Given the description of an element on the screen output the (x, y) to click on. 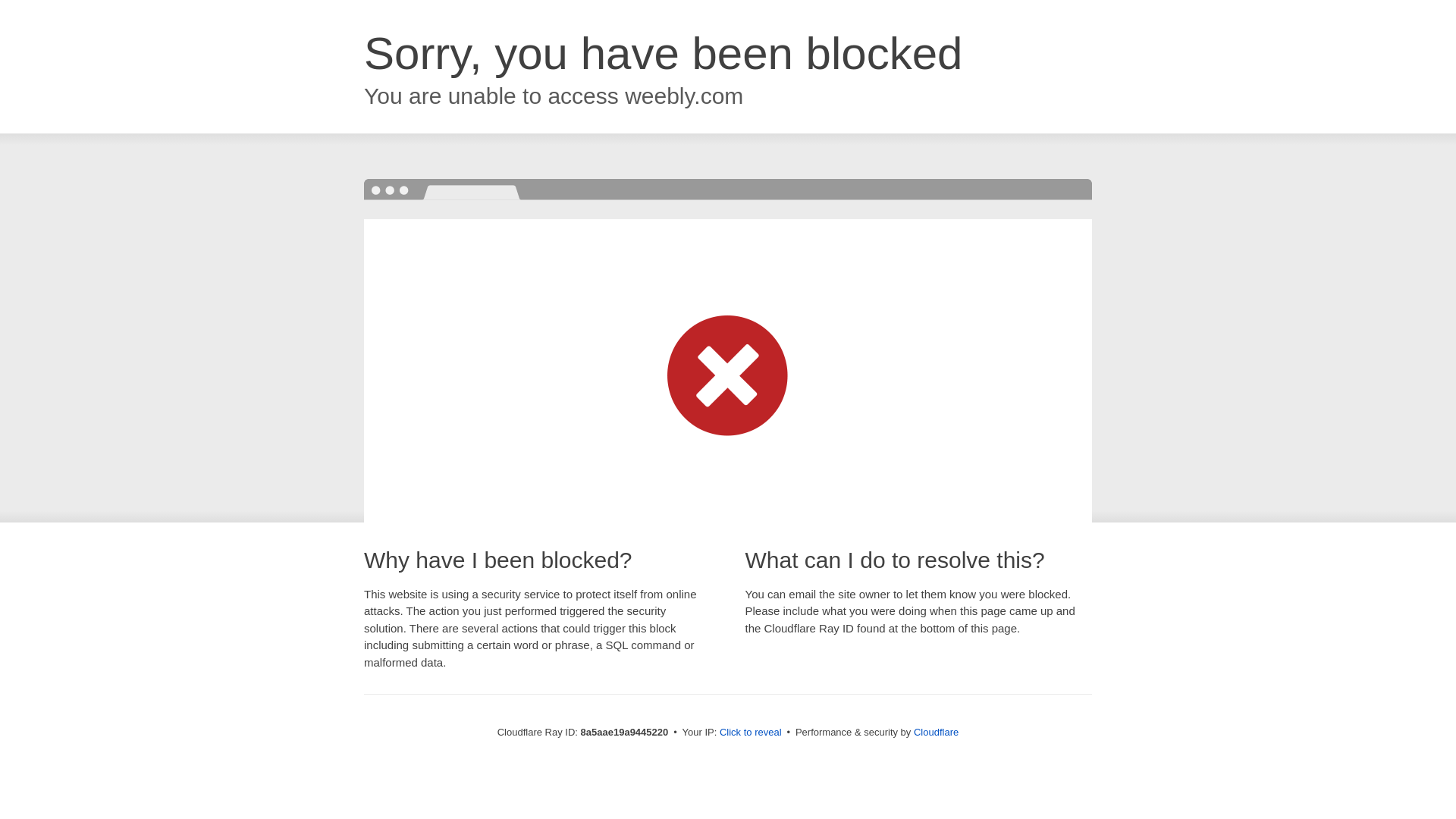
Click to reveal (750, 732)
Cloudflare (936, 731)
